Given the description of an element on the screen output the (x, y) to click on. 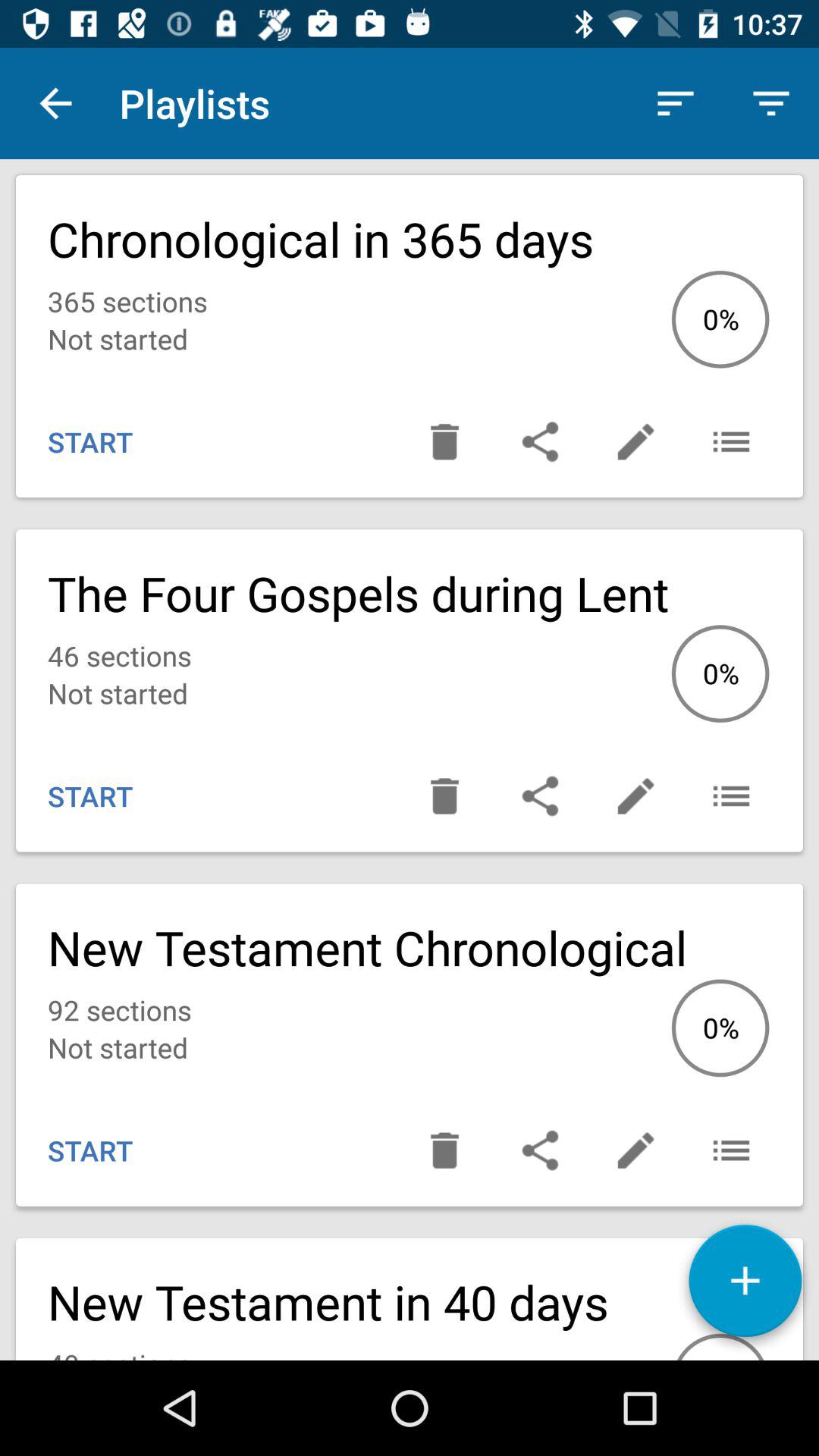
select icon above the chronological in 365 item (55, 103)
